Given the description of an element on the screen output the (x, y) to click on. 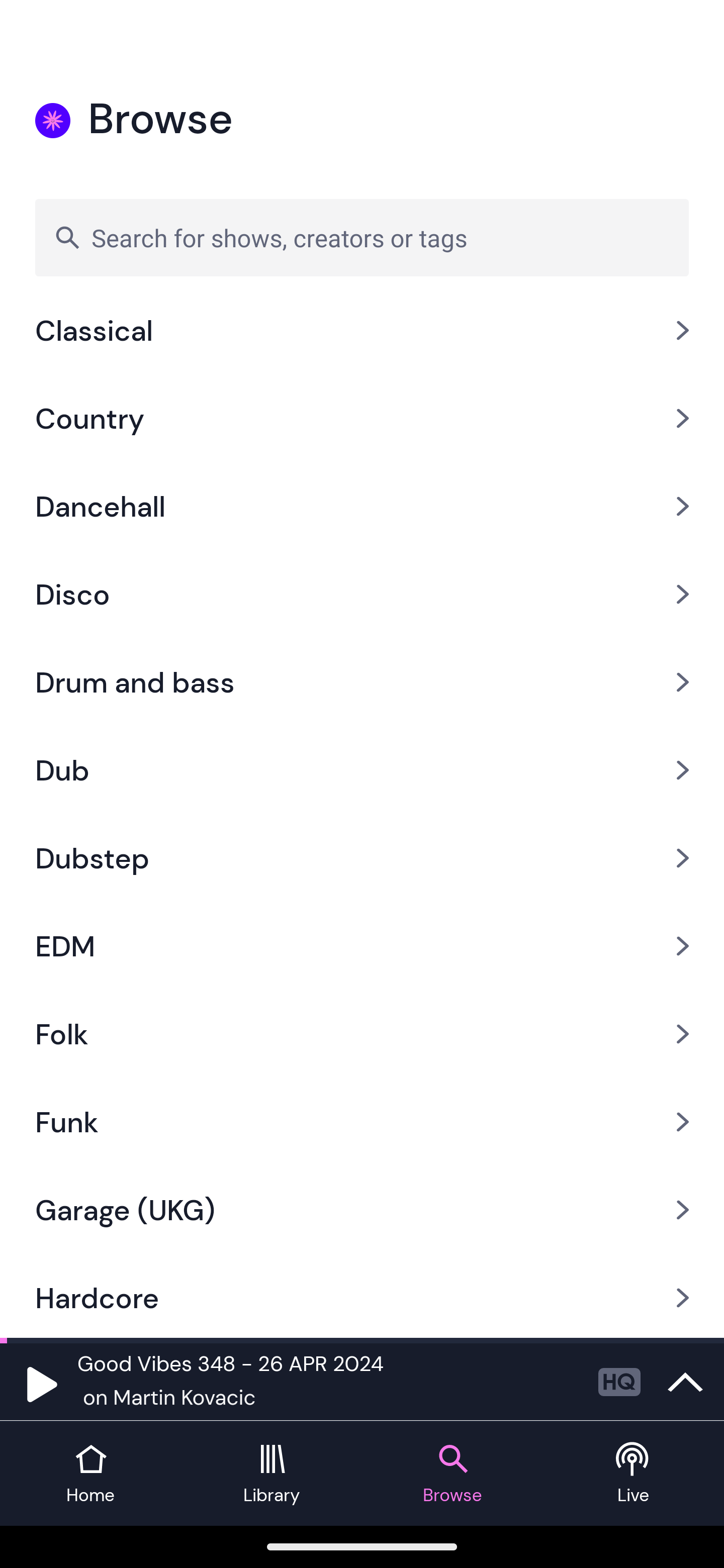
Search for shows, creators or tags (361, 237)
Classical (361, 338)
Country (361, 418)
Dancehall (361, 506)
Disco (361, 594)
Drum and bass (361, 681)
Dub (361, 769)
Dubstep (361, 857)
EDM (361, 945)
Folk (361, 1033)
Funk (361, 1122)
Garage (UKG) (361, 1210)
Hardcore (361, 1295)
Home tab Home (90, 1473)
Library tab Library (271, 1473)
Browse tab Browse (452, 1473)
Live tab Live (633, 1473)
